Given the description of an element on the screen output the (x, y) to click on. 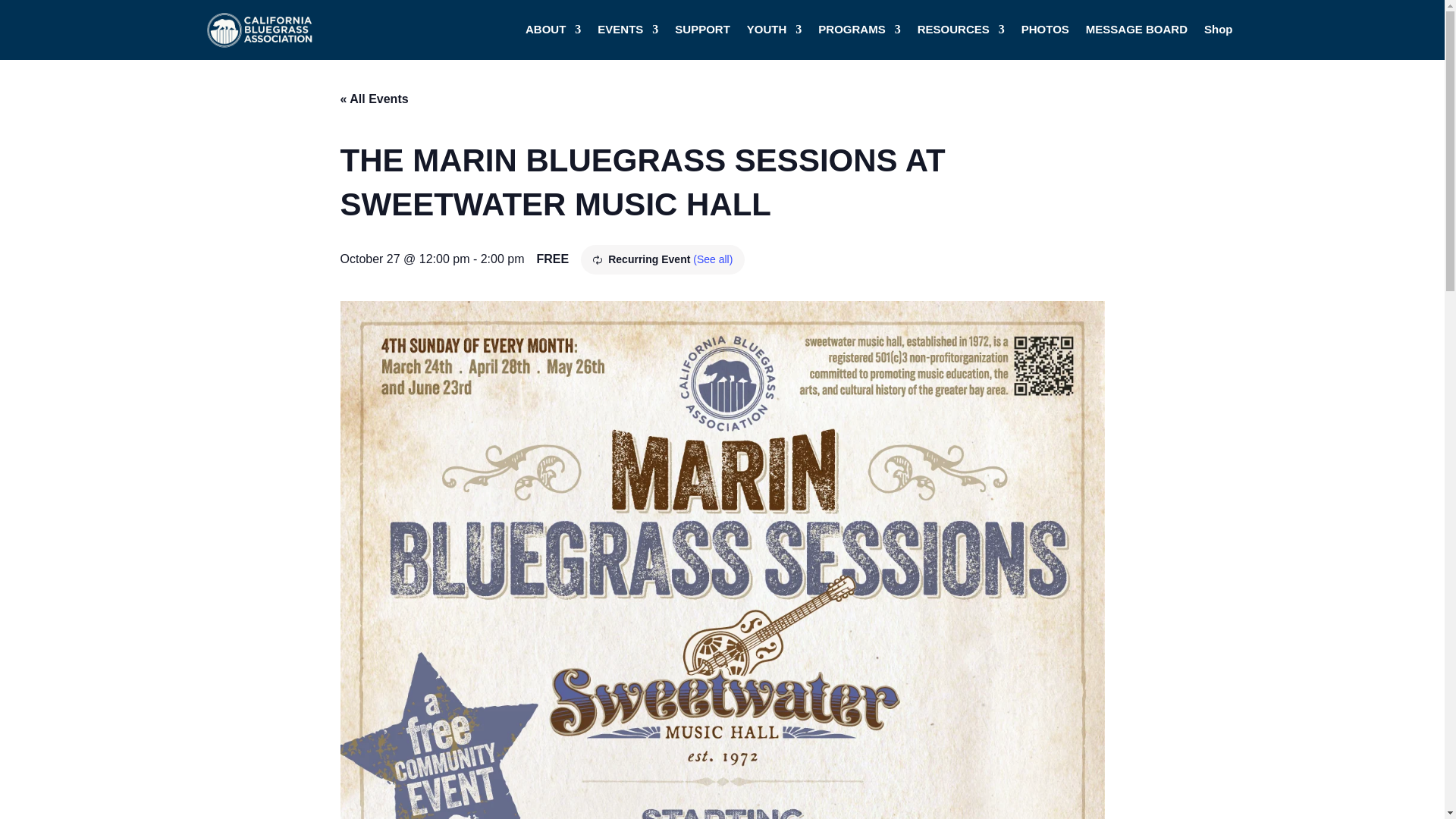
SUPPORT (702, 29)
YOUTH (774, 29)
ABOUT (552, 29)
MESSAGE BOARD (1137, 29)
PROGRAMS (858, 29)
RESOURCES (960, 29)
EVENTS (627, 29)
